Given the description of an element on the screen output the (x, y) to click on. 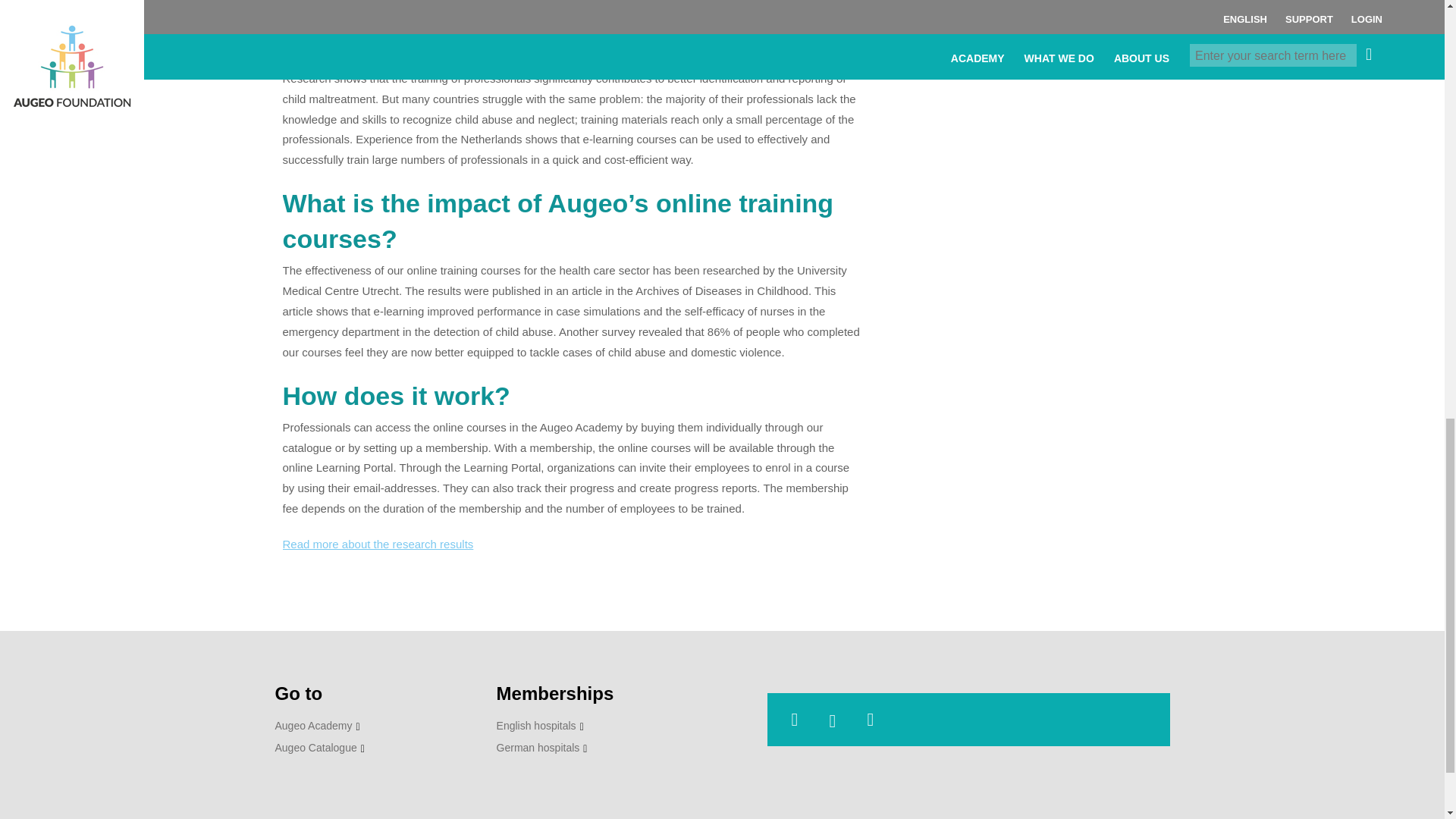
English hospitals (539, 726)
Augeo Academy (317, 726)
Youtube (838, 721)
Read more about the research results (377, 543)
Augeo Catalogue (319, 748)
German hospitals (542, 748)
Facebook (876, 721)
LinkedIn (801, 721)
